Given the description of an element on the screen output the (x, y) to click on. 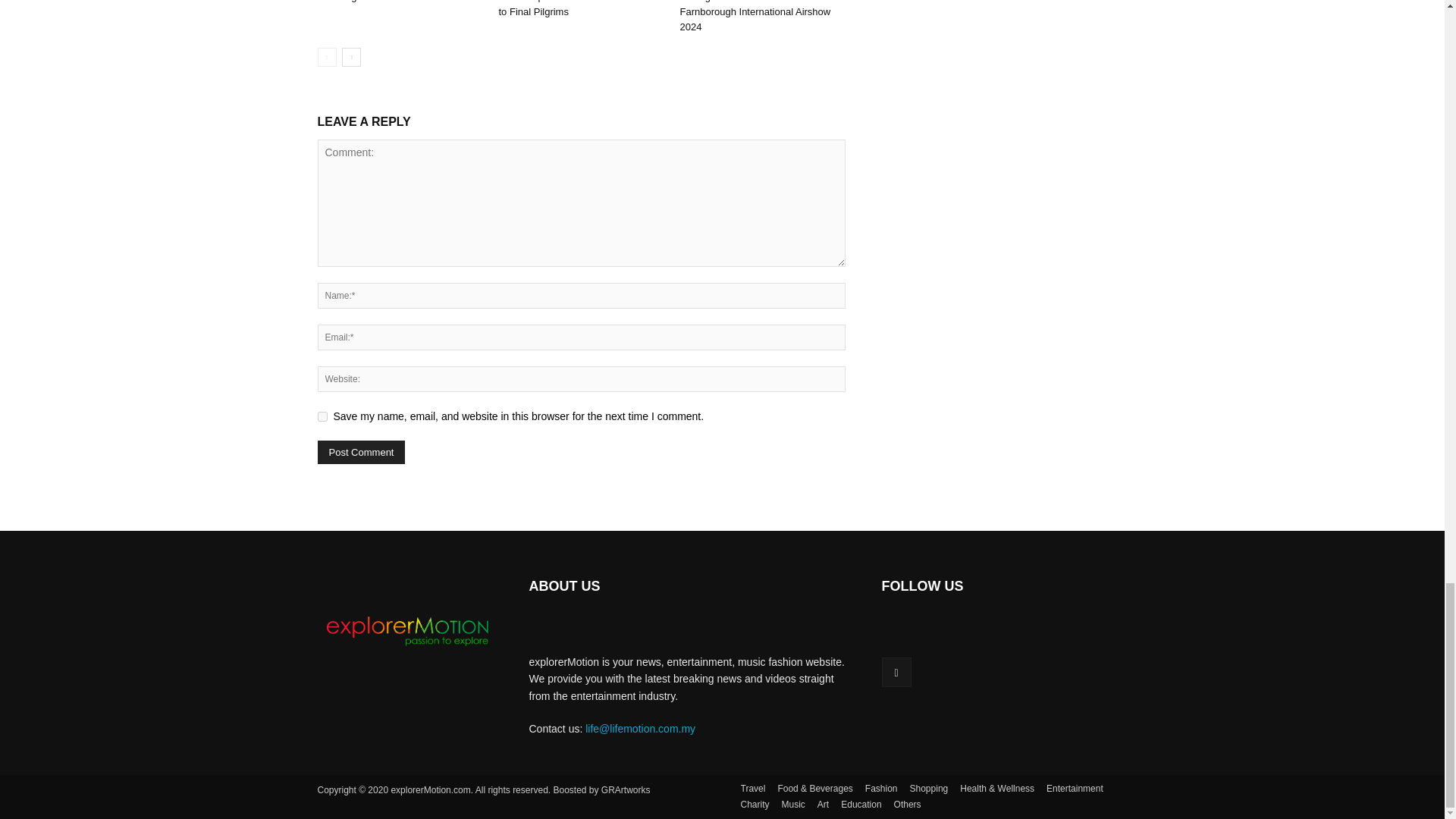
Post Comment (360, 452)
yes (321, 416)
